Given the description of an element on the screen output the (x, y) to click on. 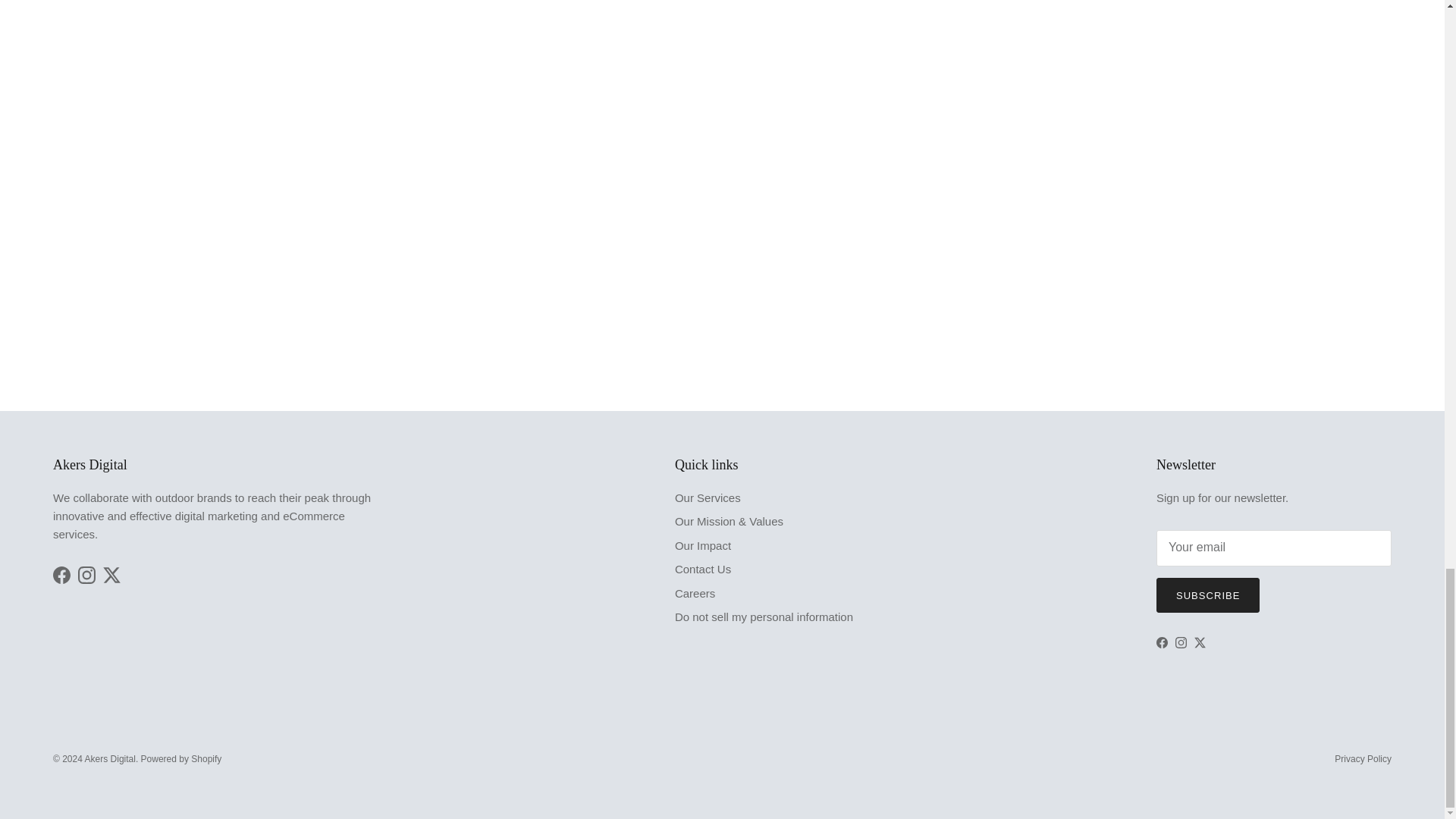
Akers Digital on Twitter (1199, 642)
Akers Digital on Instagram (1180, 642)
Akers Digital on Twitter (111, 574)
Akers Digital on Facebook (1161, 642)
Akers Digital on Instagram (87, 574)
Akers Digital on Facebook (60, 574)
